Given the description of an element on the screen output the (x, y) to click on. 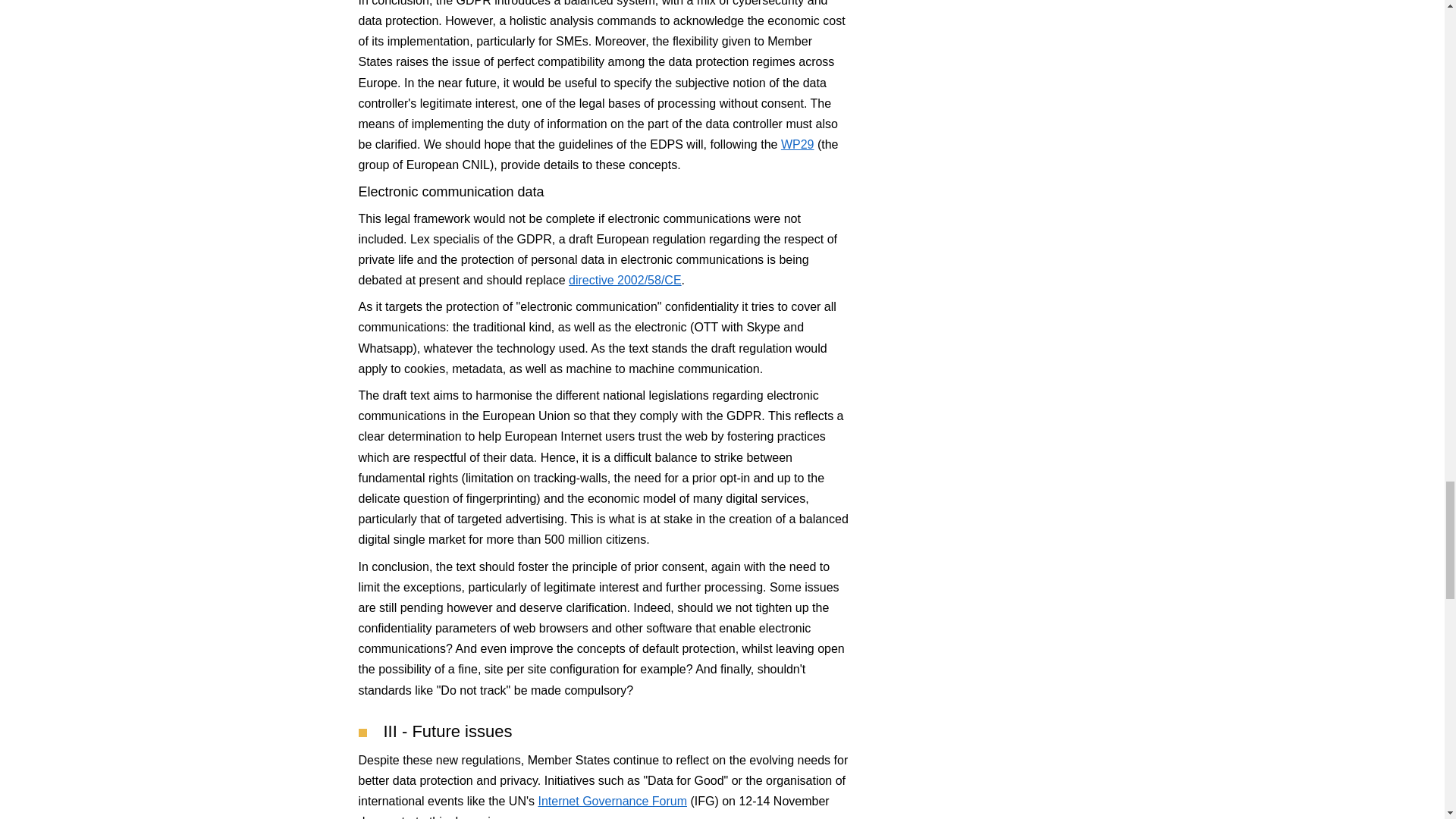
WP29 (796, 144)
